Given the description of an element on the screen output the (x, y) to click on. 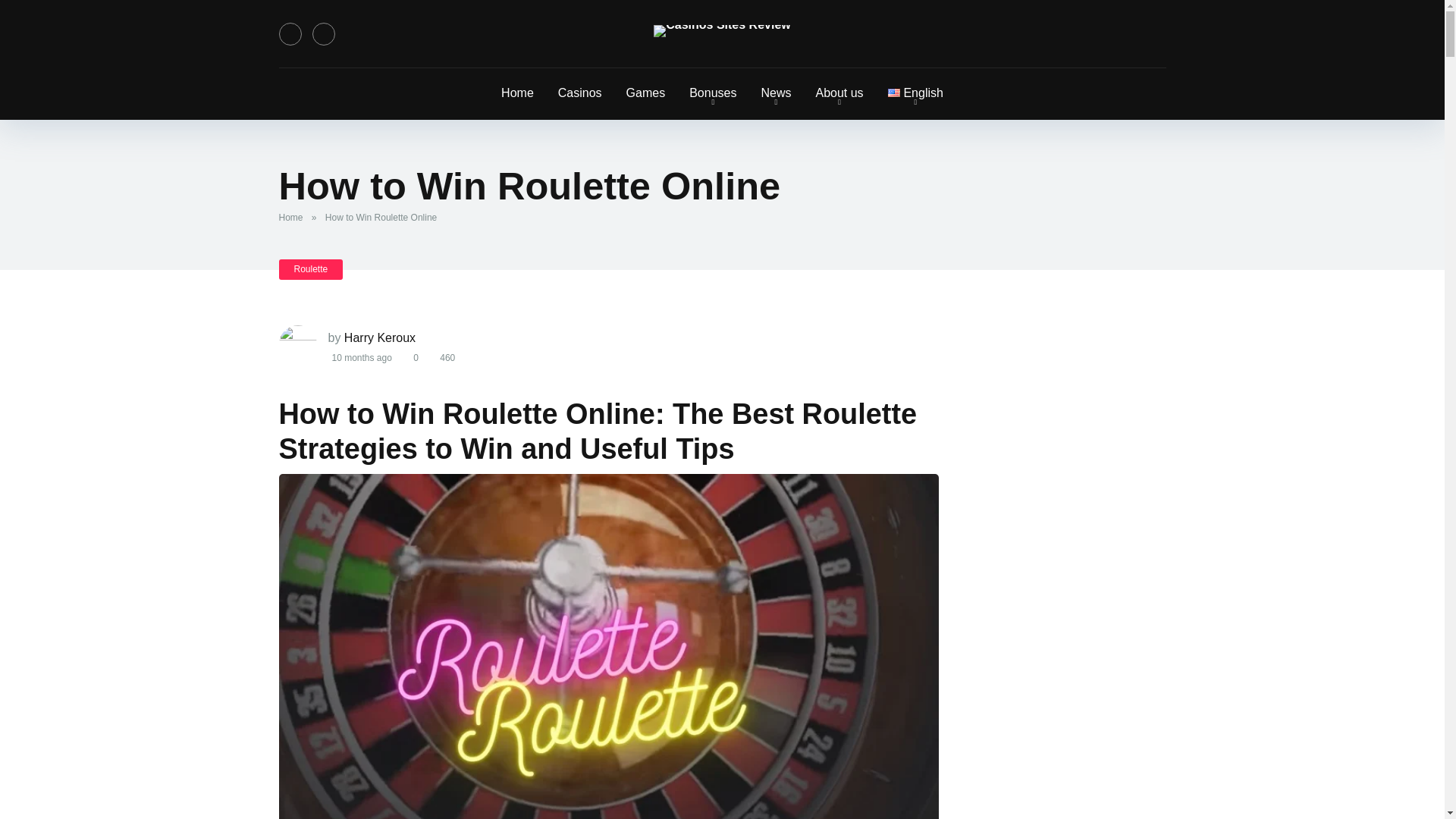
Games (646, 93)
Home (293, 217)
YouTube (290, 33)
Posts by Harry Keroux (378, 337)
News (775, 93)
Harry Keroux (378, 337)
English (915, 93)
Instagram (323, 33)
Home (517, 93)
Bonuses (712, 93)
